Given the description of an element on the screen output the (x, y) to click on. 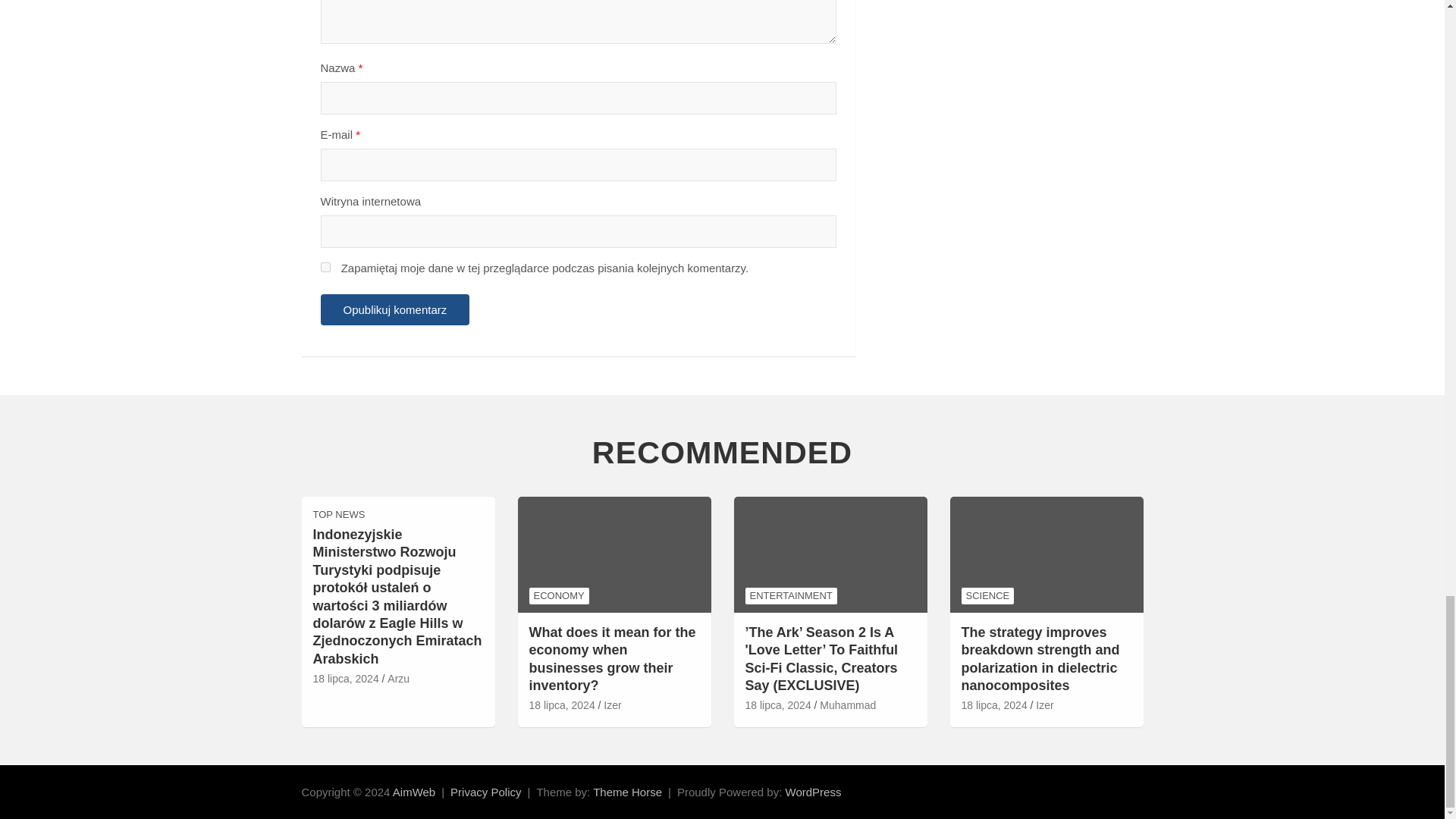
Opublikuj komentarz (394, 309)
TOP NEWS (339, 514)
18 lipca, 2024 (345, 679)
yes (325, 266)
Opublikuj komentarz (394, 309)
AimWeb (414, 791)
WordPress (813, 791)
Theme Horse (627, 791)
